Given the description of an element on the screen output the (x, y) to click on. 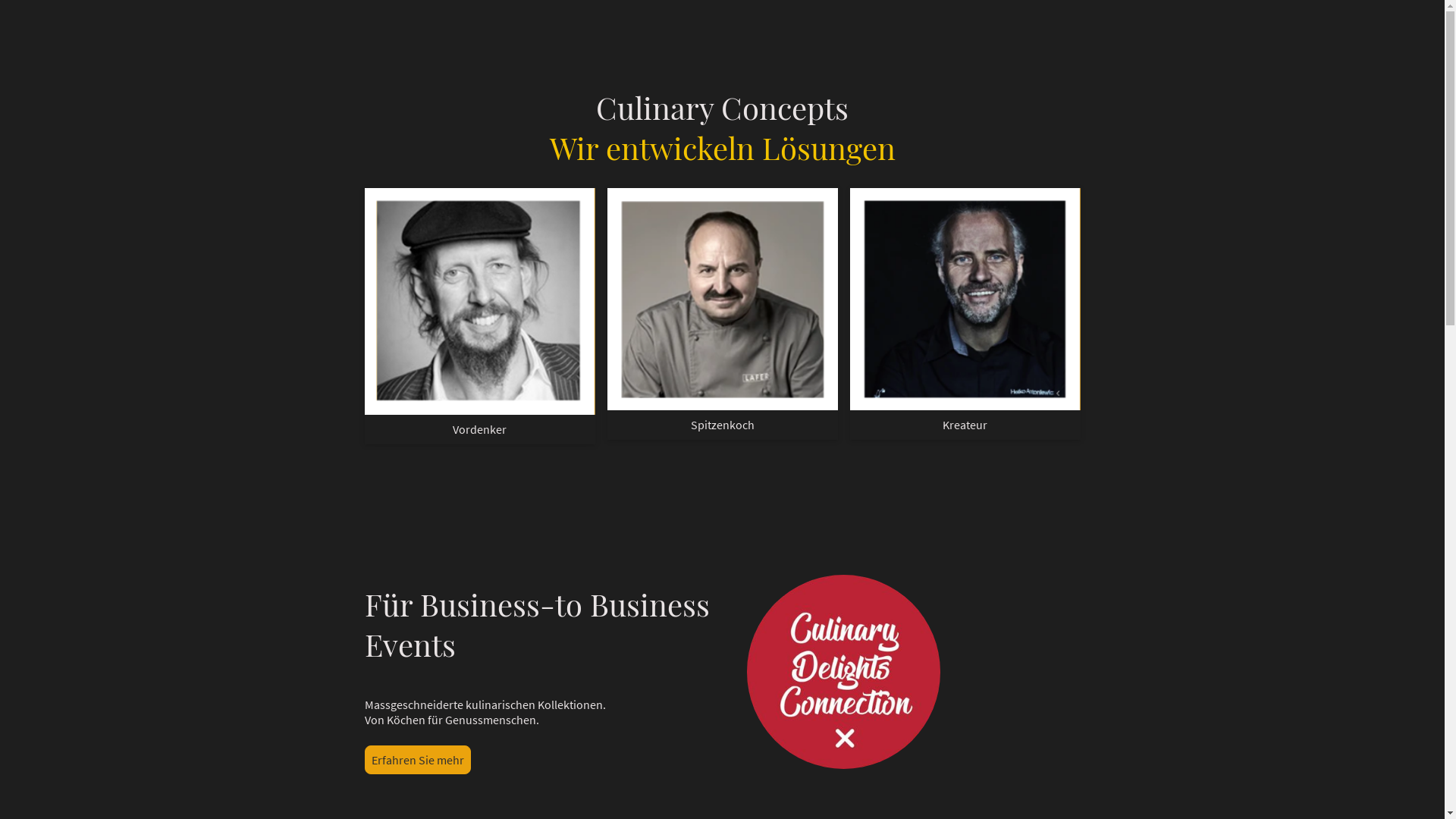
Kreateur Element type: hover (964, 299)
Erfahren Sie mehr Element type: text (417, 759)
Vordenker Element type: hover (479, 301)
Spitzenkoch Element type: hover (721, 299)
